Given the description of an element on the screen output the (x, y) to click on. 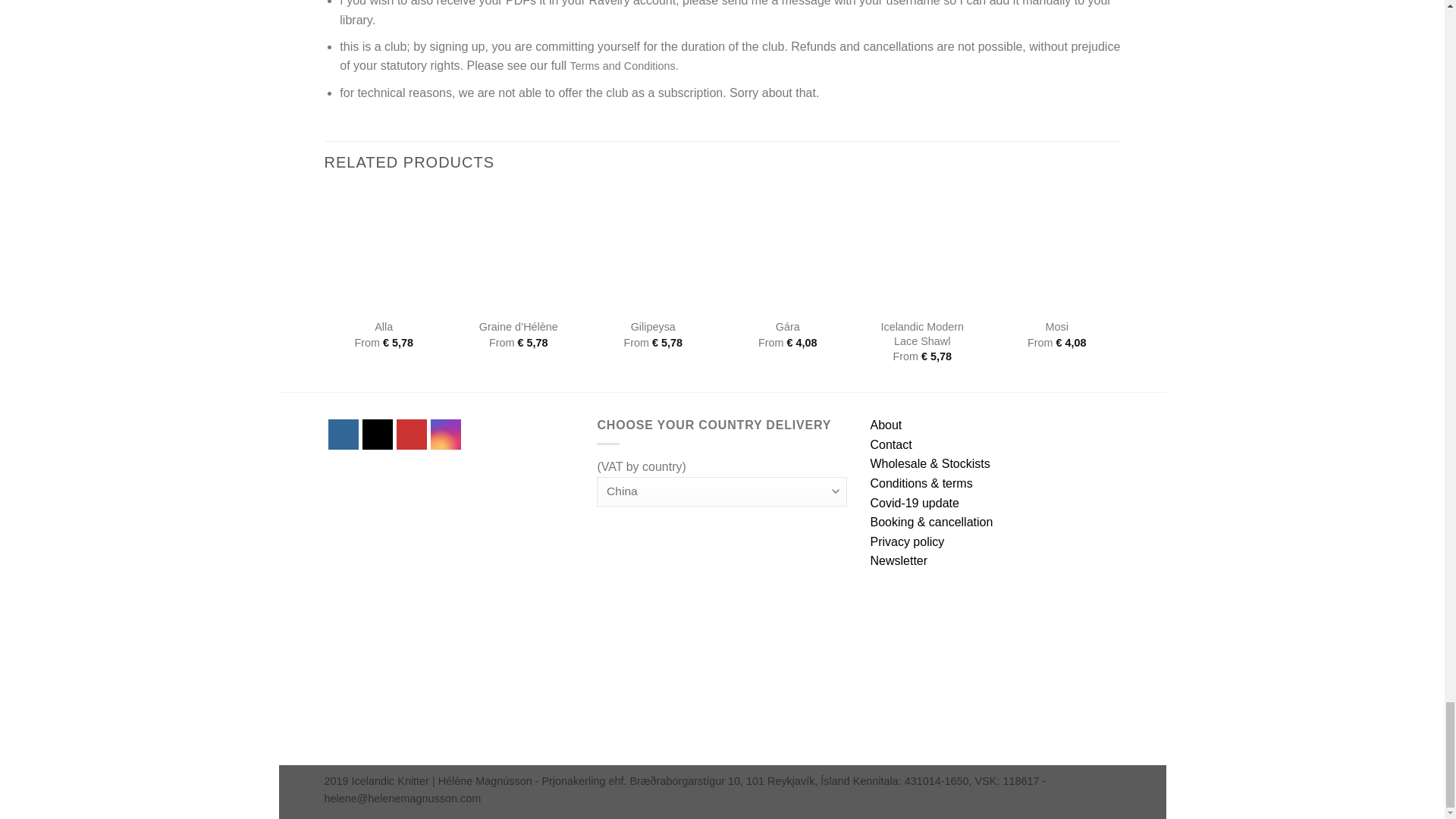
Facebook (343, 434)
Instagram (444, 434)
Twitter (376, 434)
Pinterest (411, 434)
SOCIALICON (479, 434)
